Given the description of an element on the screen output the (x, y) to click on. 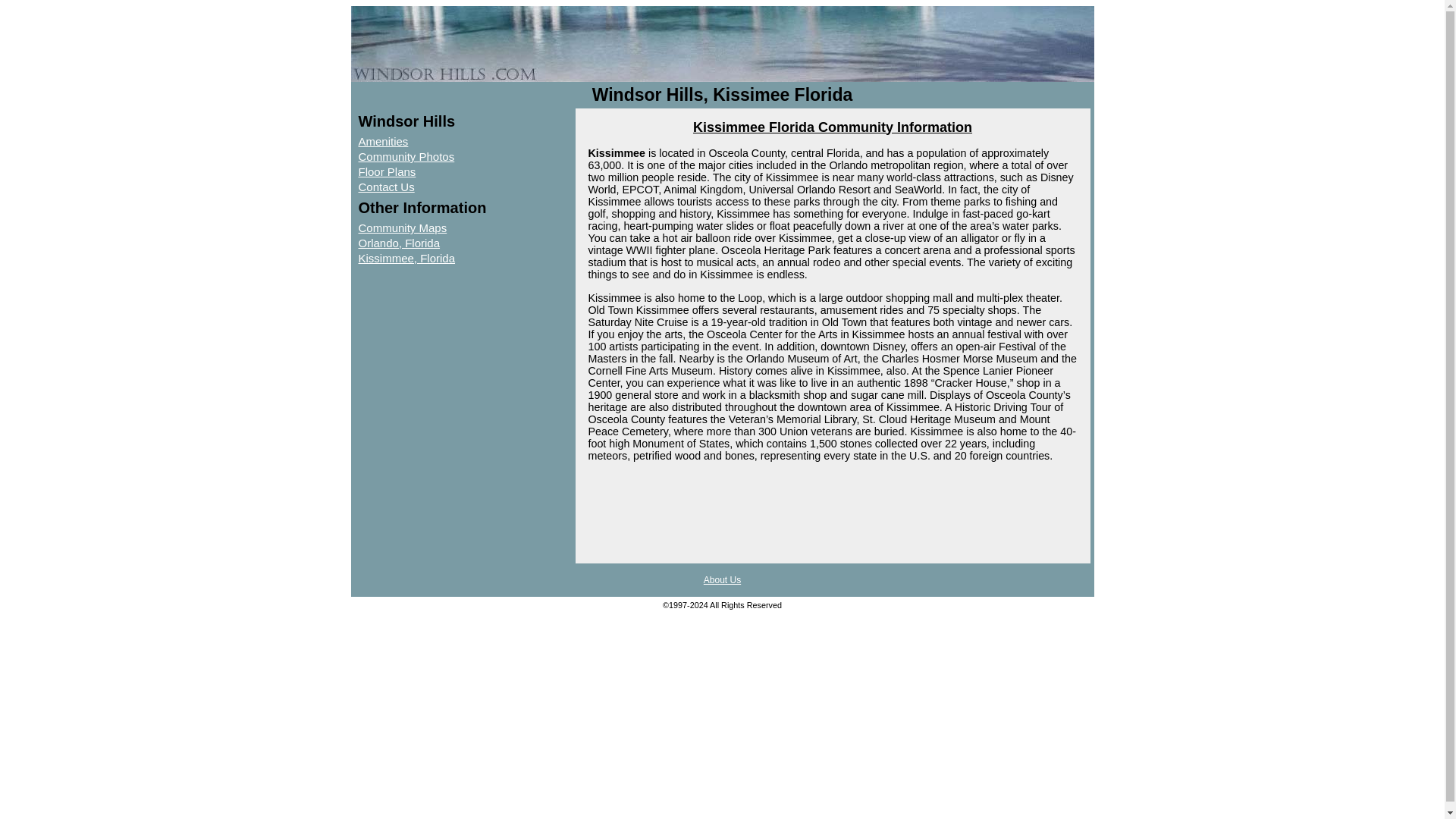
Orlando, Florida (422, 242)
Amenities (422, 141)
Kissimmee, Florida (422, 258)
Community Photos (422, 156)
Community Maps (422, 227)
About Us (722, 579)
Contact Us (422, 186)
Floor Plans (422, 171)
